Given the description of an element on the screen output the (x, y) to click on. 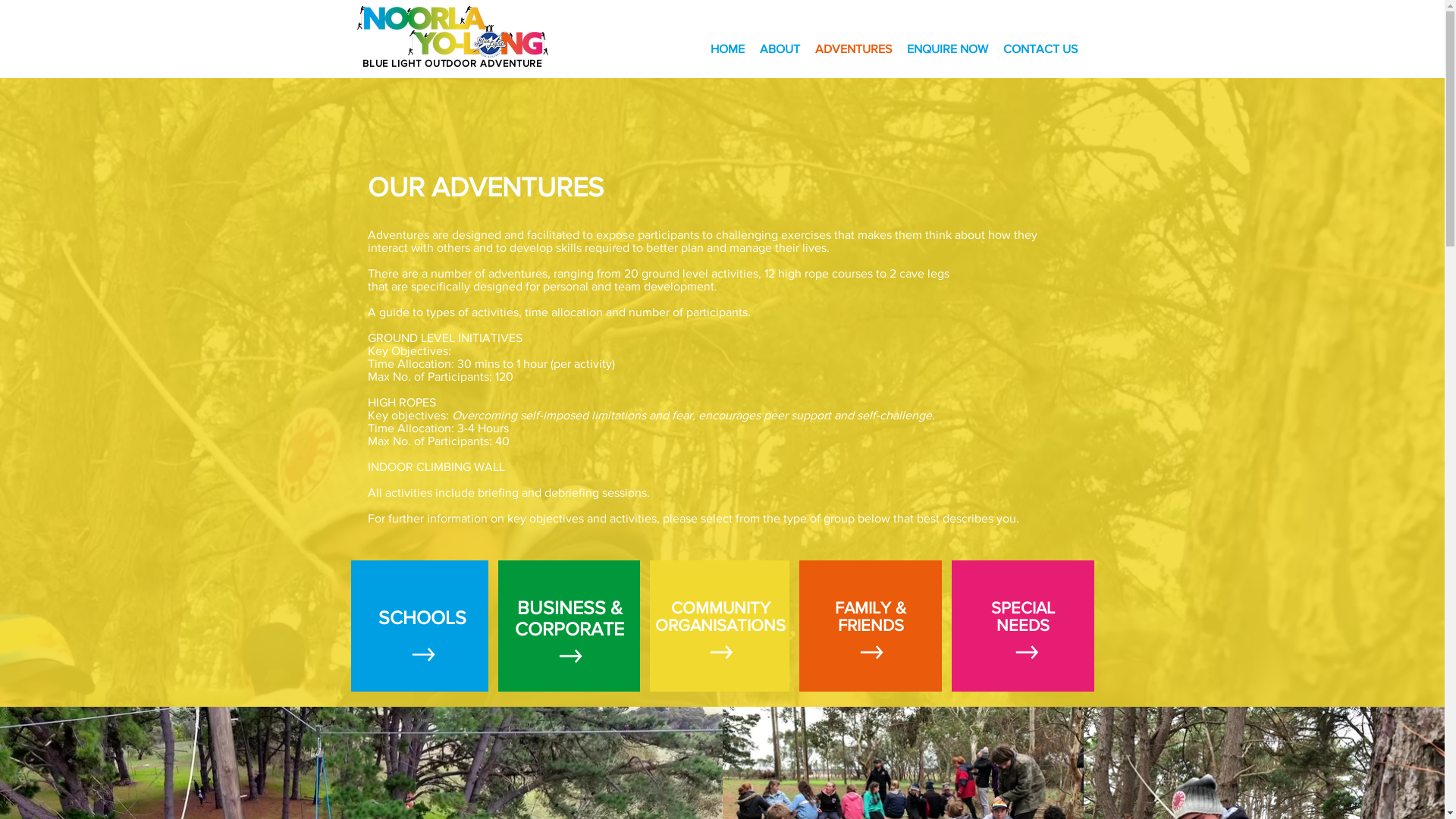
CONTACT US Element type: text (1039, 49)
ABOUT Element type: text (779, 49)
FAMILY & Element type: text (870, 607)
FRIENDS Element type: text (870, 624)
ENQUIRE NOW Element type: text (947, 49)
SCHOOLS Element type: text (422, 616)
HOME Element type: text (726, 49)
BUSINESS &
CORPORATE Element type: text (569, 617)
NEEDS Element type: text (1022, 624)
ADVENTURES Element type: text (852, 49)
SPECIAL Element type: text (1022, 607)
BLUE LIGHT OUTDOOR ADVENTURE Element type: text (452, 63)
ORGANISATIONS Element type: text (720, 624)
COMMUNITY Element type: text (719, 607)
